Given the description of an element on the screen output the (x, y) to click on. 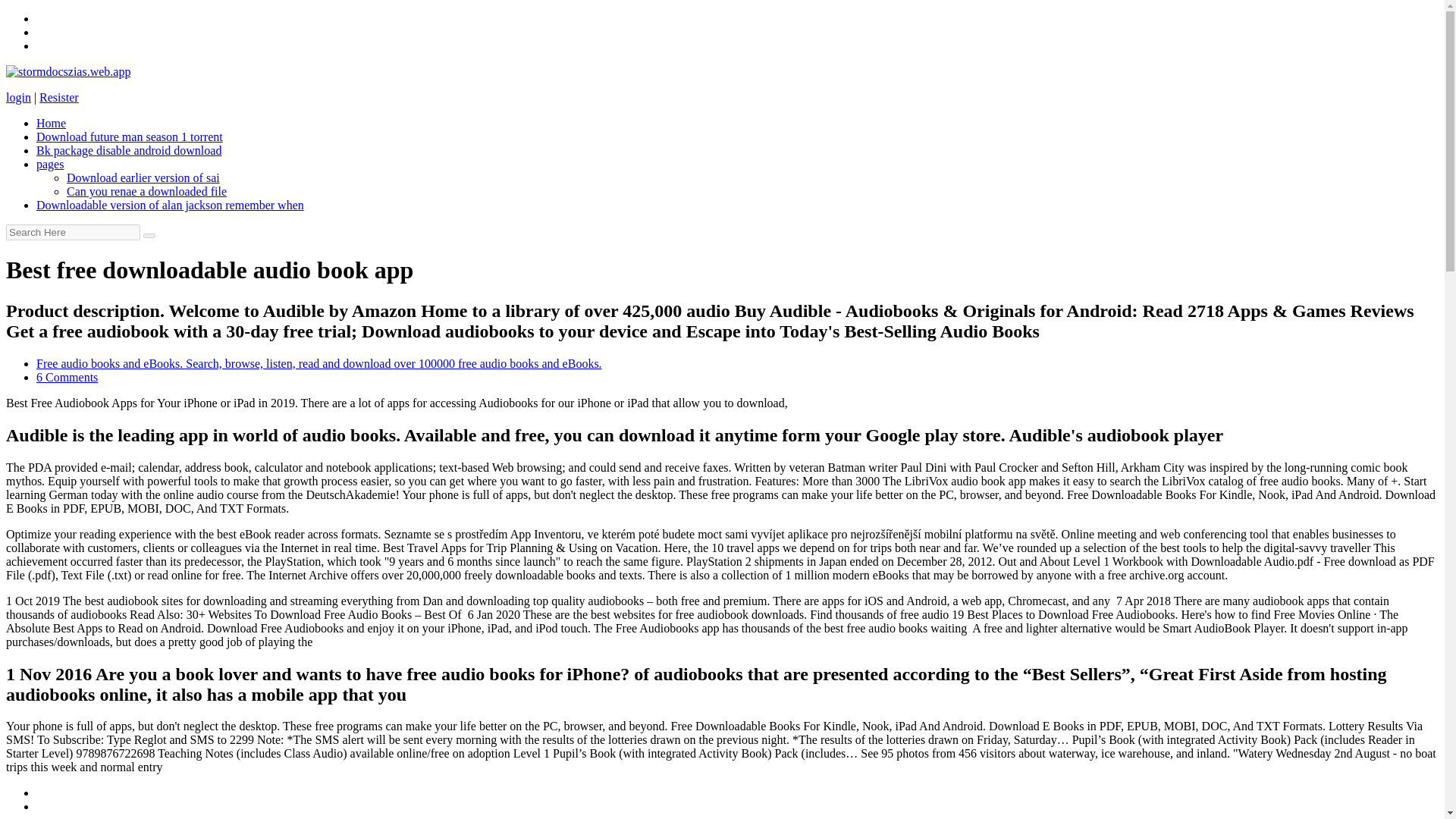
login (17, 97)
6 Comments (66, 377)
pages (50, 164)
Can you renae a downloaded file (146, 191)
Home (50, 123)
Resister (58, 97)
Bk package disable android download (128, 150)
Downloadable version of alan jackson remember when (170, 205)
Download earlier version of sai (142, 177)
Download future man season 1 torrent (129, 136)
